Given the description of an element on the screen output the (x, y) to click on. 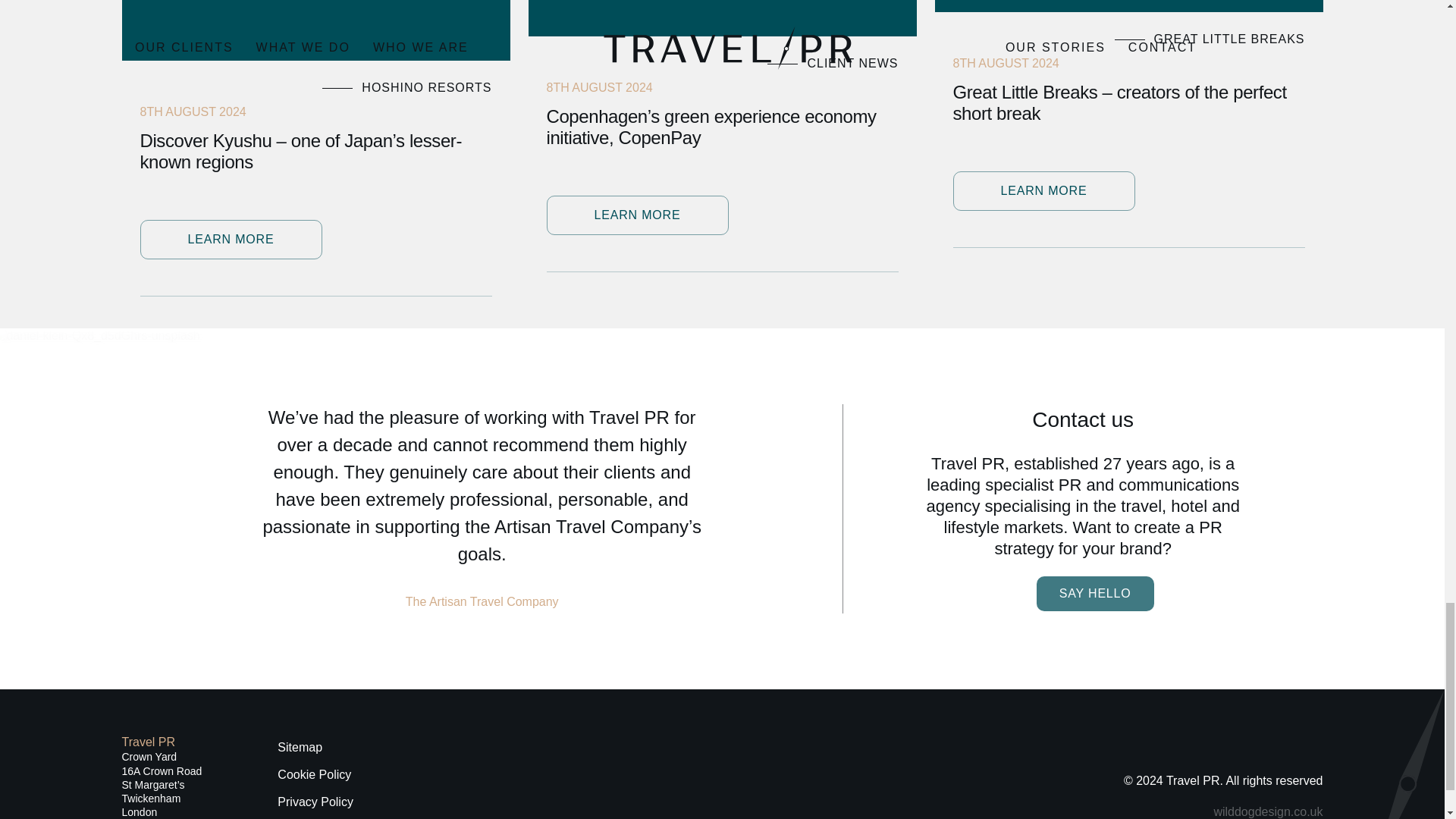
LEARN MORE (1043, 190)
LEARN MORE (637, 215)
LEARN MORE (230, 239)
SAY HELLO (1095, 593)
Sitemap (318, 747)
Privacy Policy (318, 802)
Cookie Policy (318, 774)
